Given the description of an element on the screen output the (x, y) to click on. 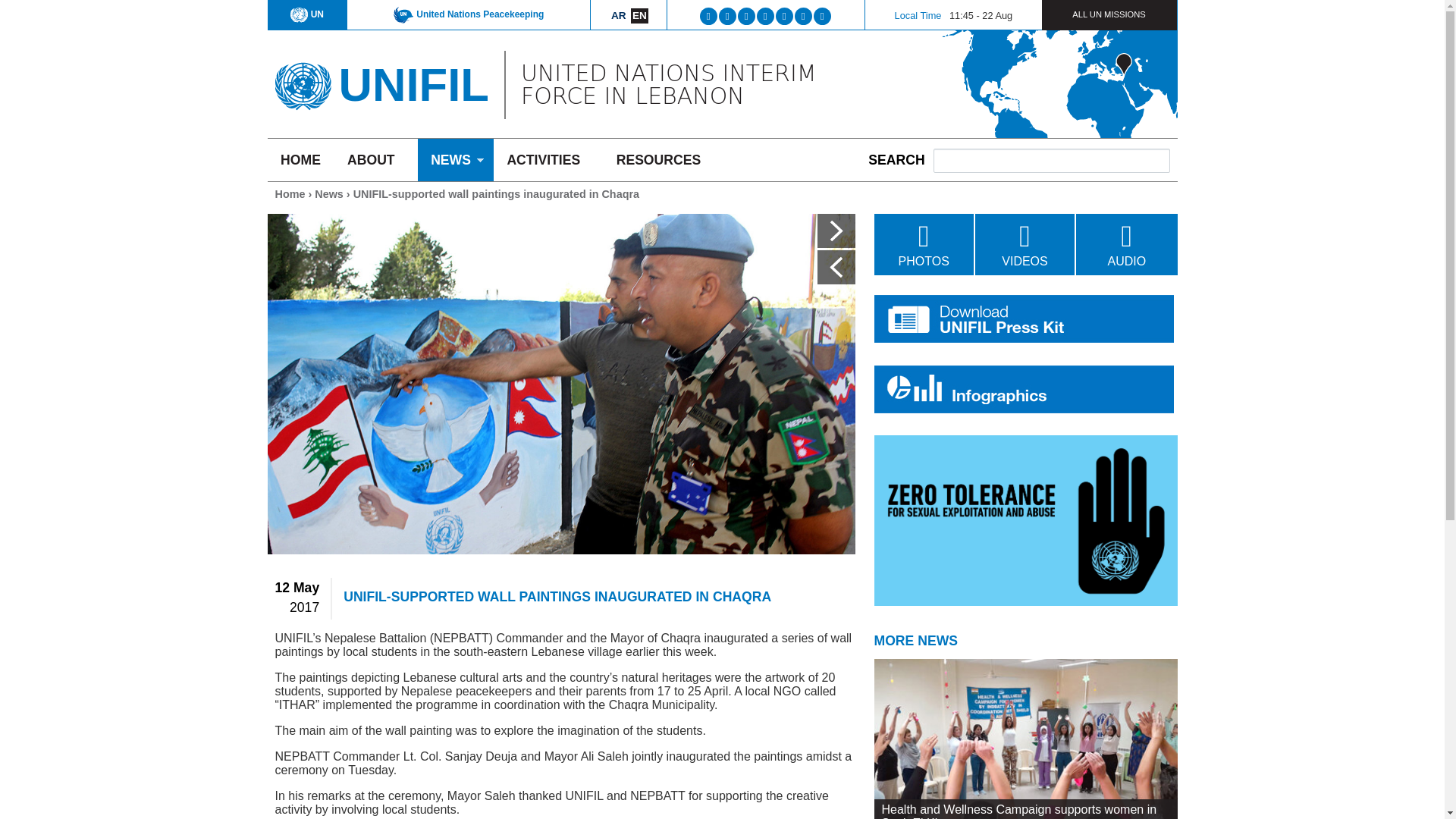
AR (618, 15)
UN (306, 14)
Home (412, 84)
HOME (299, 159)
United Nations Peacekeeping (468, 14)
Enter the terms you wish to search for. (1051, 160)
ALL UN MISSIONS (1109, 13)
Home (301, 80)
UNIFIL (412, 84)
EN (638, 15)
